Given the description of an element on the screen output the (x, y) to click on. 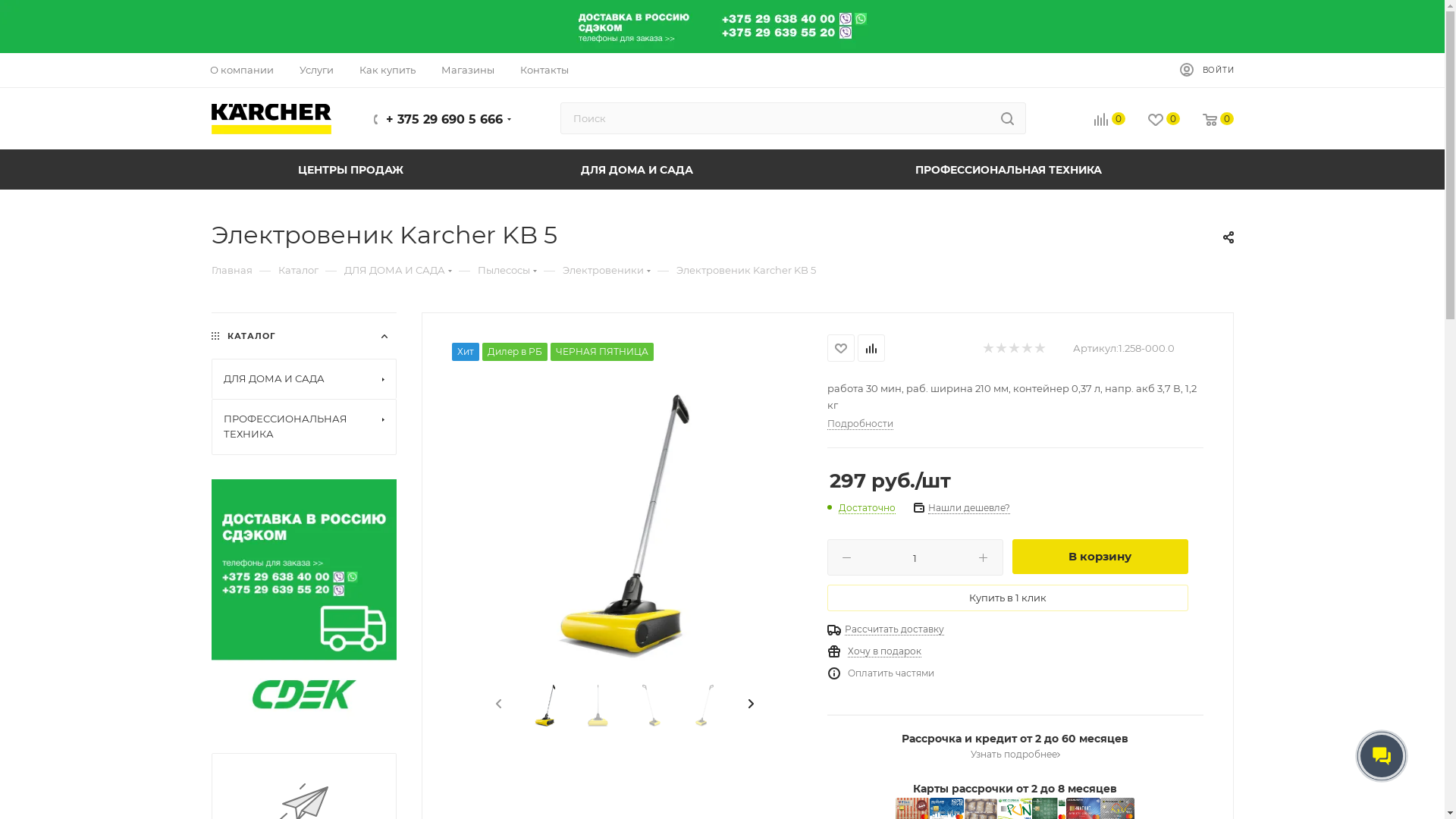
0 Element type: text (1152, 119)
+ 375 29 690 5 666 Element type: text (443, 119)
0 Element type: text (1206, 119)
0 Element type: text (1097, 119)
